Given the description of an element on the screen output the (x, y) to click on. 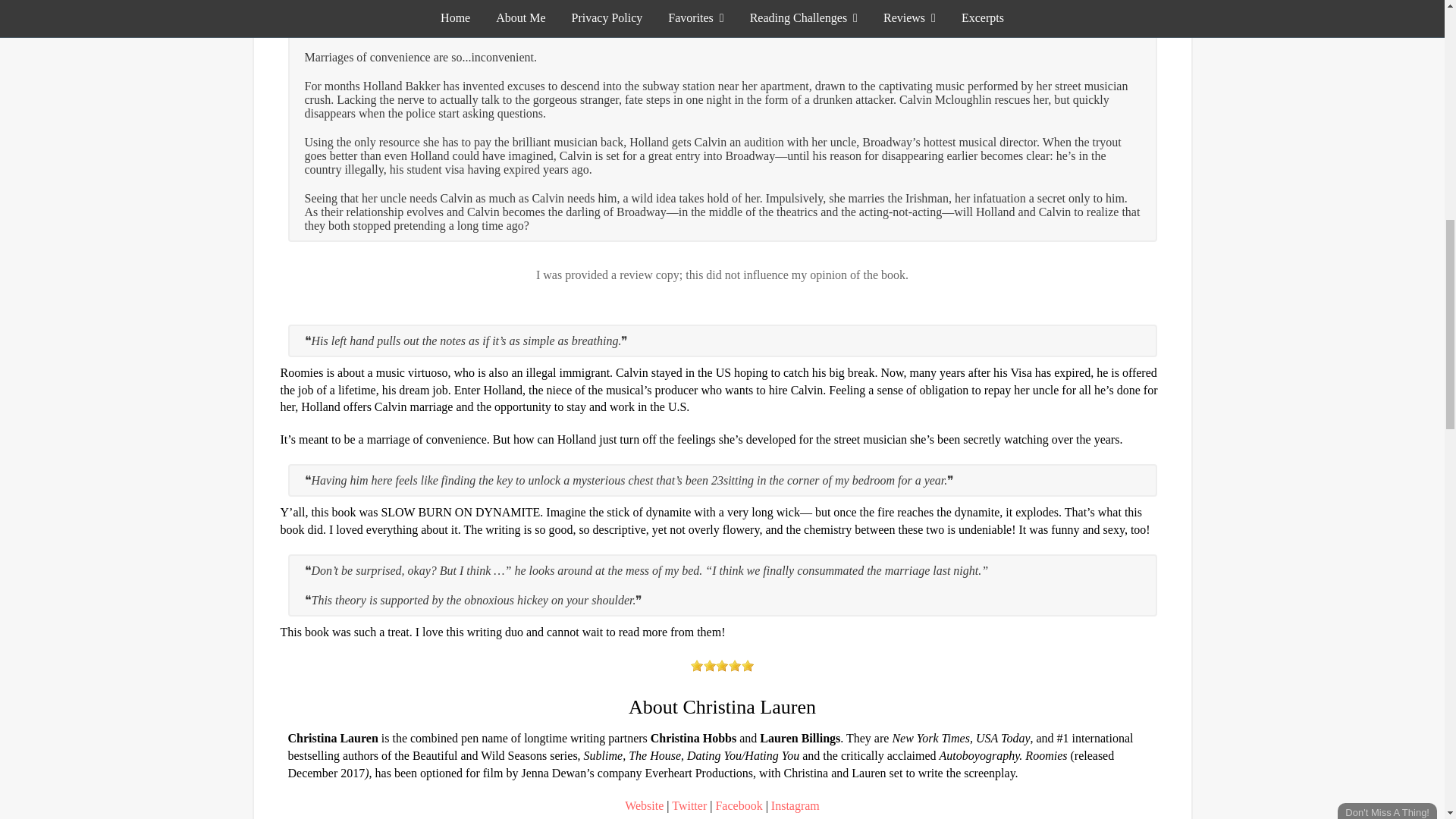
Sign up! (1361, 101)
